Given the description of an element on the screen output the (x, y) to click on. 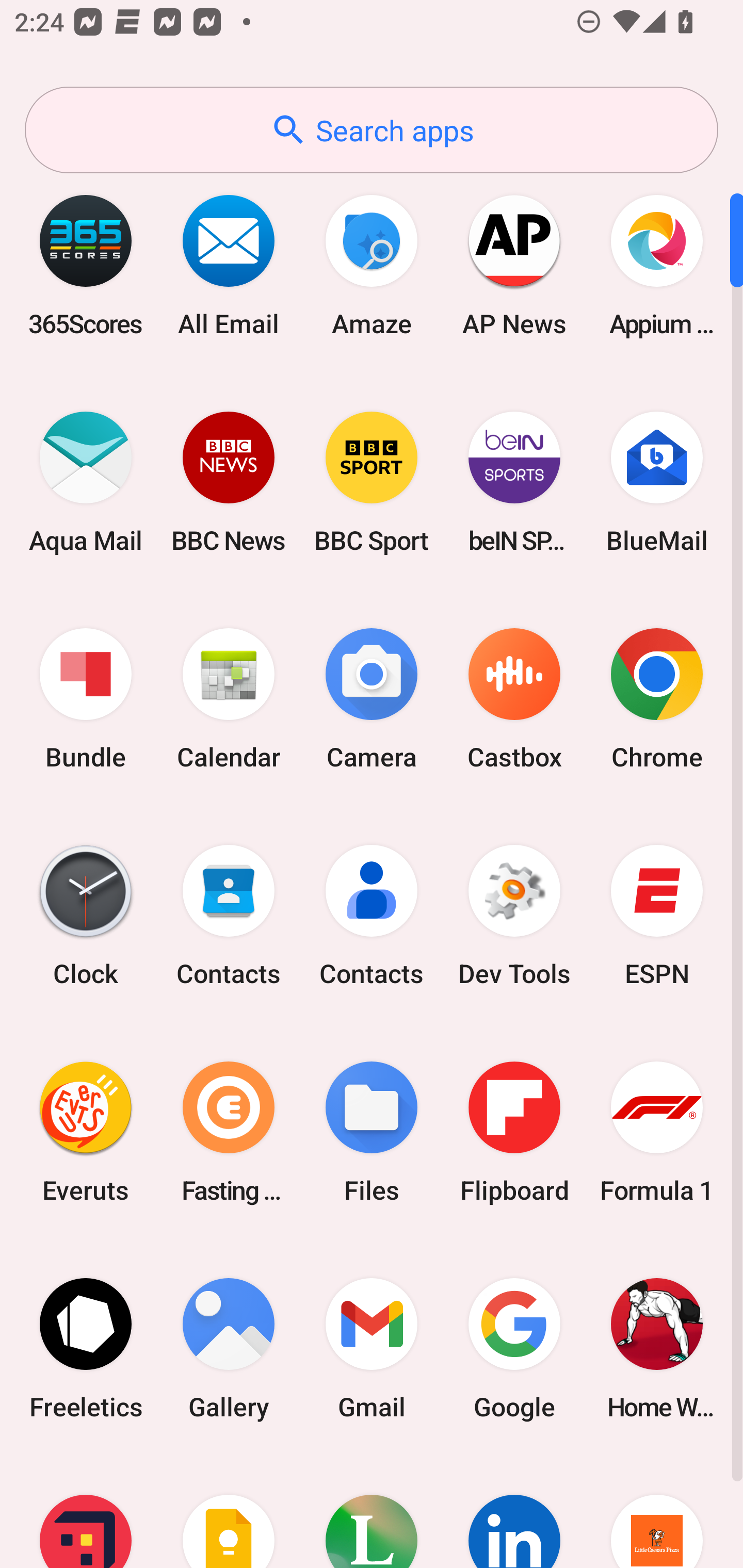
  Search apps (371, 130)
365Scores (85, 264)
All Email (228, 264)
Amaze (371, 264)
AP News (514, 264)
Appium Settings (656, 264)
Aqua Mail (85, 482)
BBC News (228, 482)
BBC Sport (371, 482)
beIN SPORTS (514, 482)
BlueMail (656, 482)
Bundle (85, 699)
Calendar (228, 699)
Camera (371, 699)
Castbox (514, 699)
Chrome (656, 699)
Clock (85, 915)
Contacts (228, 915)
Contacts (371, 915)
Dev Tools (514, 915)
ESPN (656, 915)
Everuts (85, 1131)
Fasting Coach (228, 1131)
Files (371, 1131)
Flipboard (514, 1131)
Formula 1 (656, 1131)
Freeletics (85, 1348)
Gallery (228, 1348)
Gmail (371, 1348)
Google (514, 1348)
Home Workout (656, 1348)
Hotels.com (85, 1512)
Keep Notes (228, 1512)
Lifesum (371, 1512)
LinkedIn (514, 1512)
Little Caesars Pizza (656, 1512)
